Given the description of an element on the screen output the (x, y) to click on. 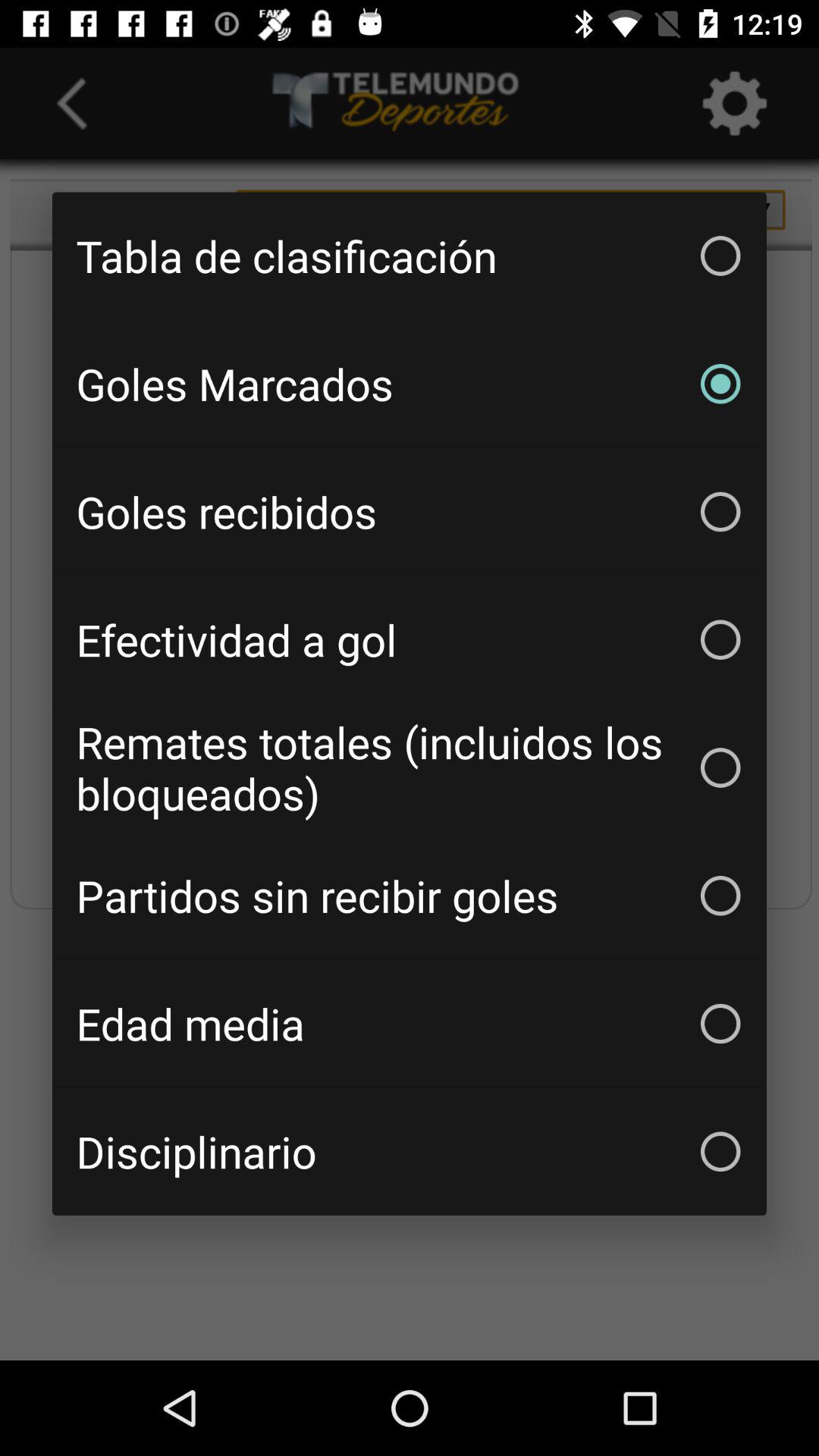
launch the icon above goles marcados (409, 255)
